Given the description of an element on the screen output the (x, y) to click on. 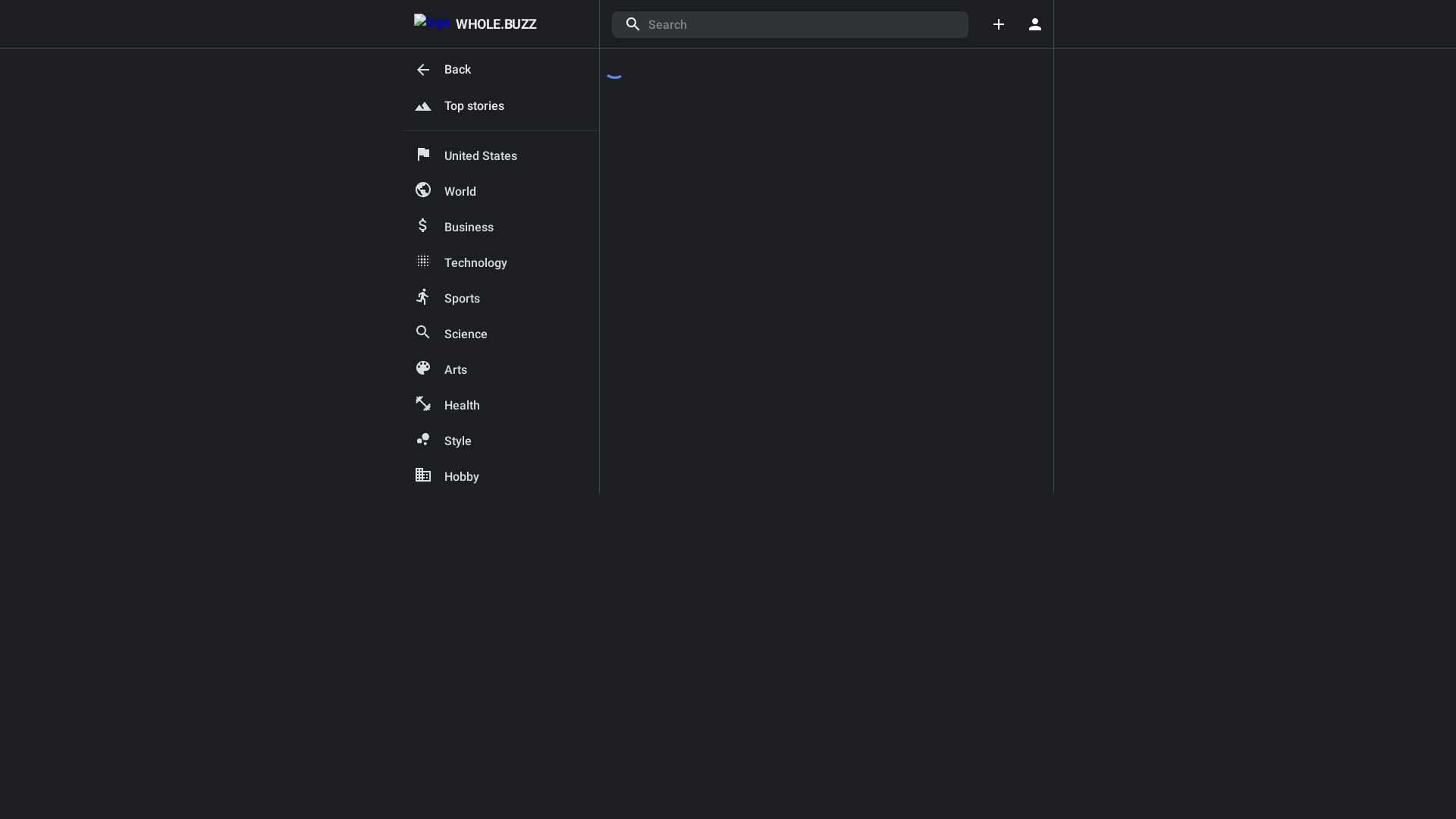
0 Element type: text (1034, 24)
Back Element type: text (500, 69)
WHOLE.BUZZ Element type: text (475, 23)
Top stories Element type: text (500, 105)
